Given the description of an element on the screen output the (x, y) to click on. 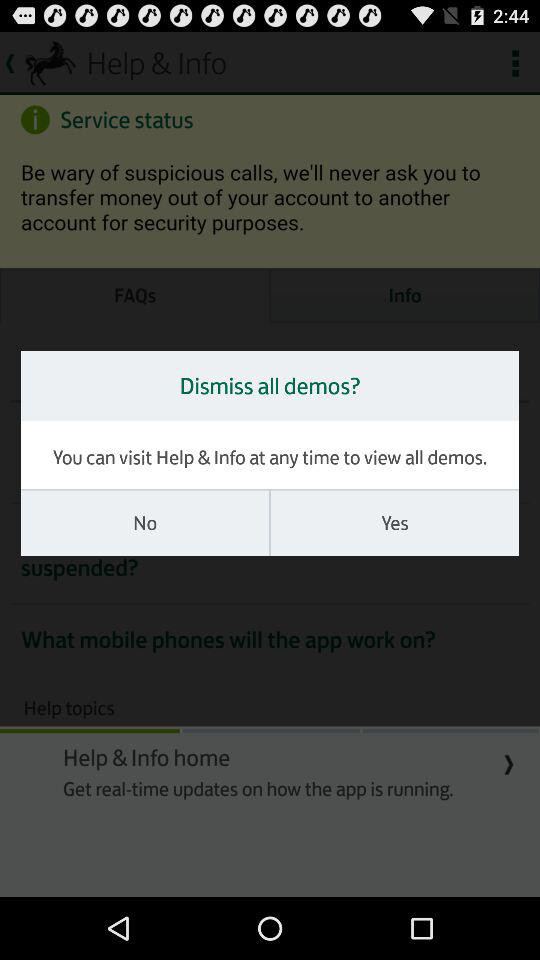
open no icon (145, 523)
